Given the description of an element on the screen output the (x, y) to click on. 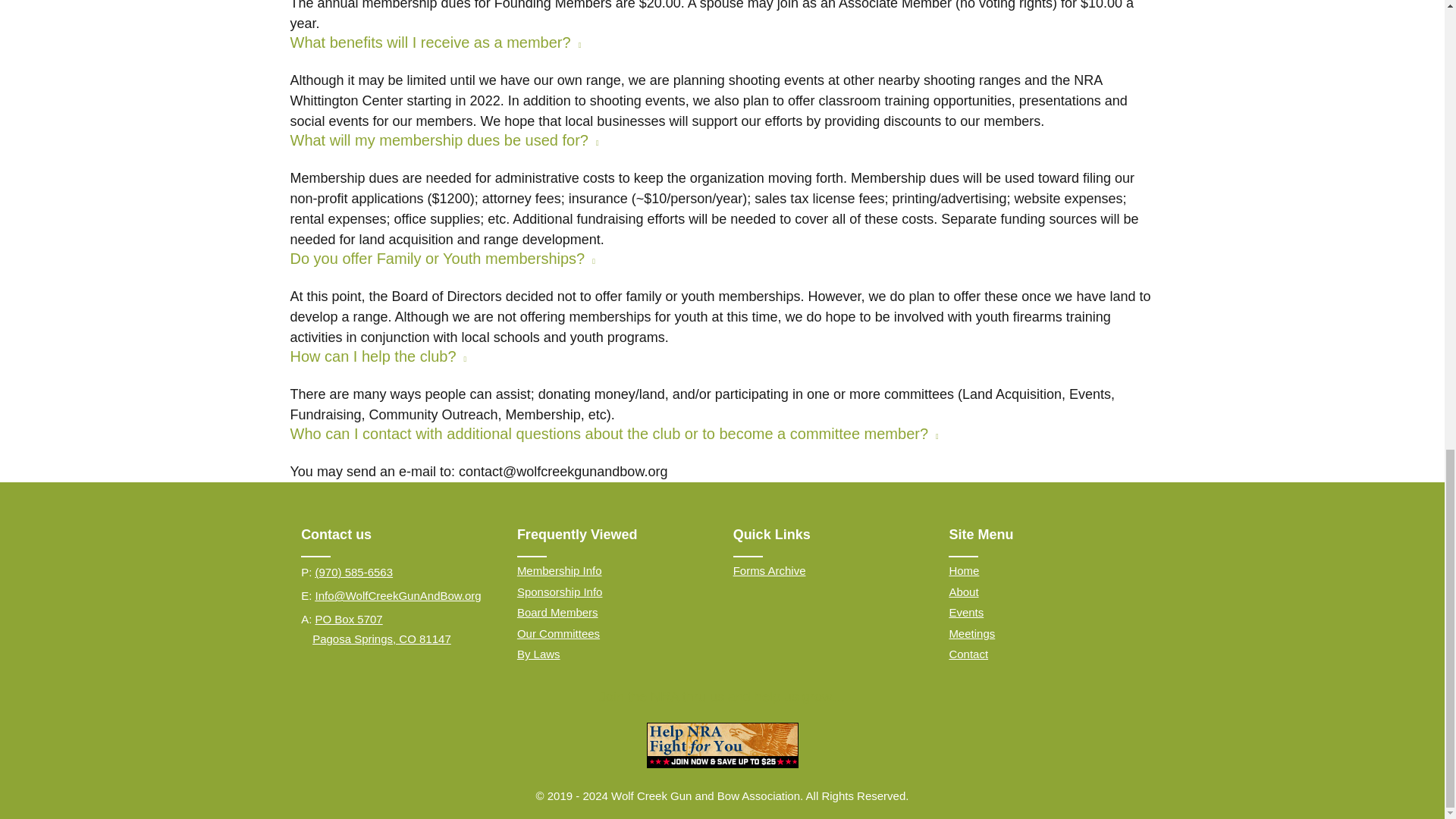
Home (963, 570)
Our Committees (557, 633)
Membership Info (559, 570)
Board Members (557, 612)
Forms Archive (769, 570)
Events (966, 612)
Sponsorship Info (559, 591)
About (963, 591)
By Laws (538, 653)
